Given the description of an element on the screen output the (x, y) to click on. 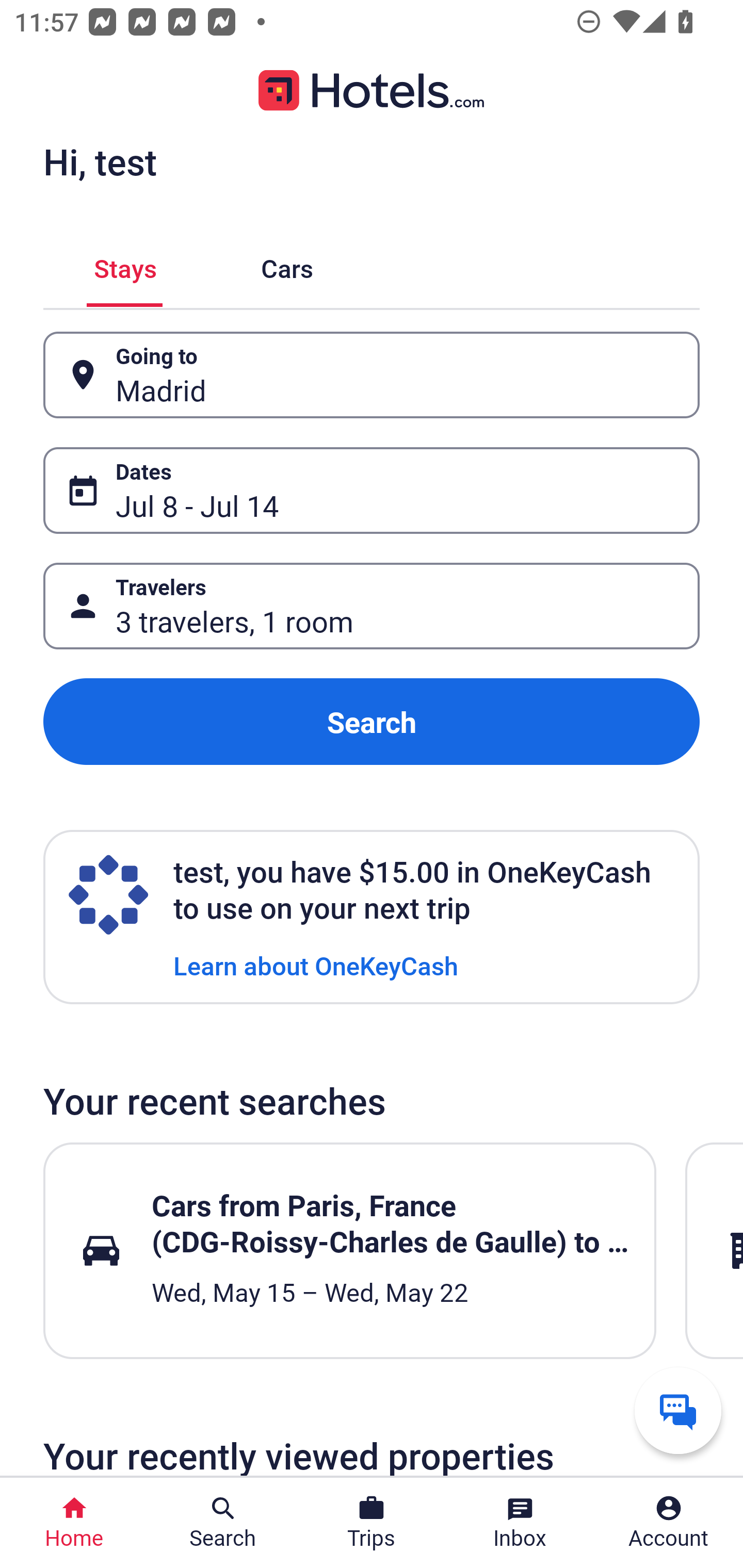
Hi, test (99, 161)
Cars (286, 265)
Going to Button Madrid (371, 375)
Dates Button Jul 8 - Jul 14 (371, 489)
Travelers Button 3 travelers, 1 room (371, 605)
Search (371, 721)
Learn about OneKeyCash Learn about OneKeyCash Link (315, 964)
Get help from a virtual agent (677, 1410)
Search Search Button (222, 1522)
Trips Trips Button (371, 1522)
Inbox Inbox Button (519, 1522)
Account Profile. Button (668, 1522)
